Given the description of an element on the screen output the (x, y) to click on. 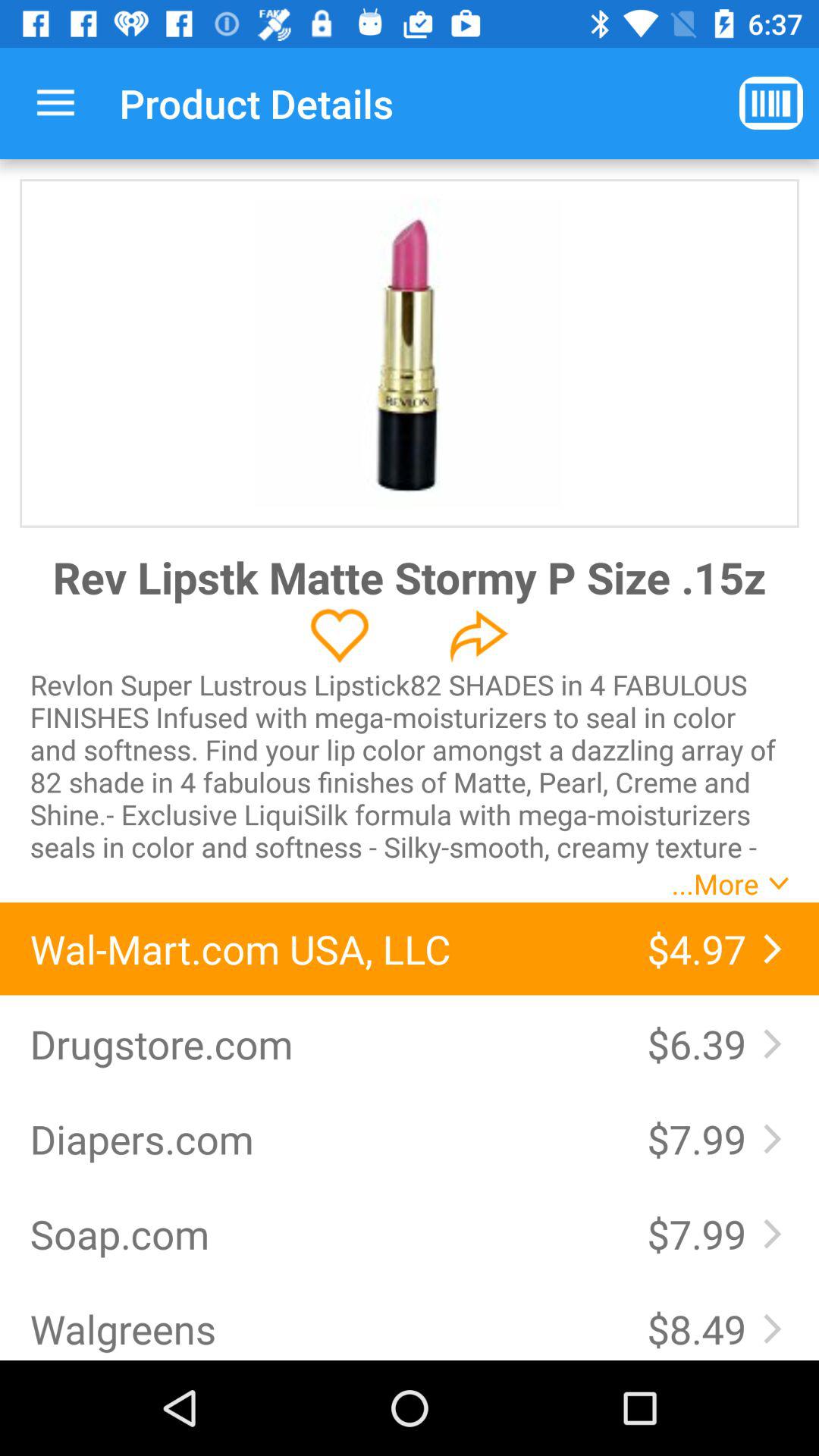
select the revlon super lustrous item (409, 765)
